Given the description of an element on the screen output the (x, y) to click on. 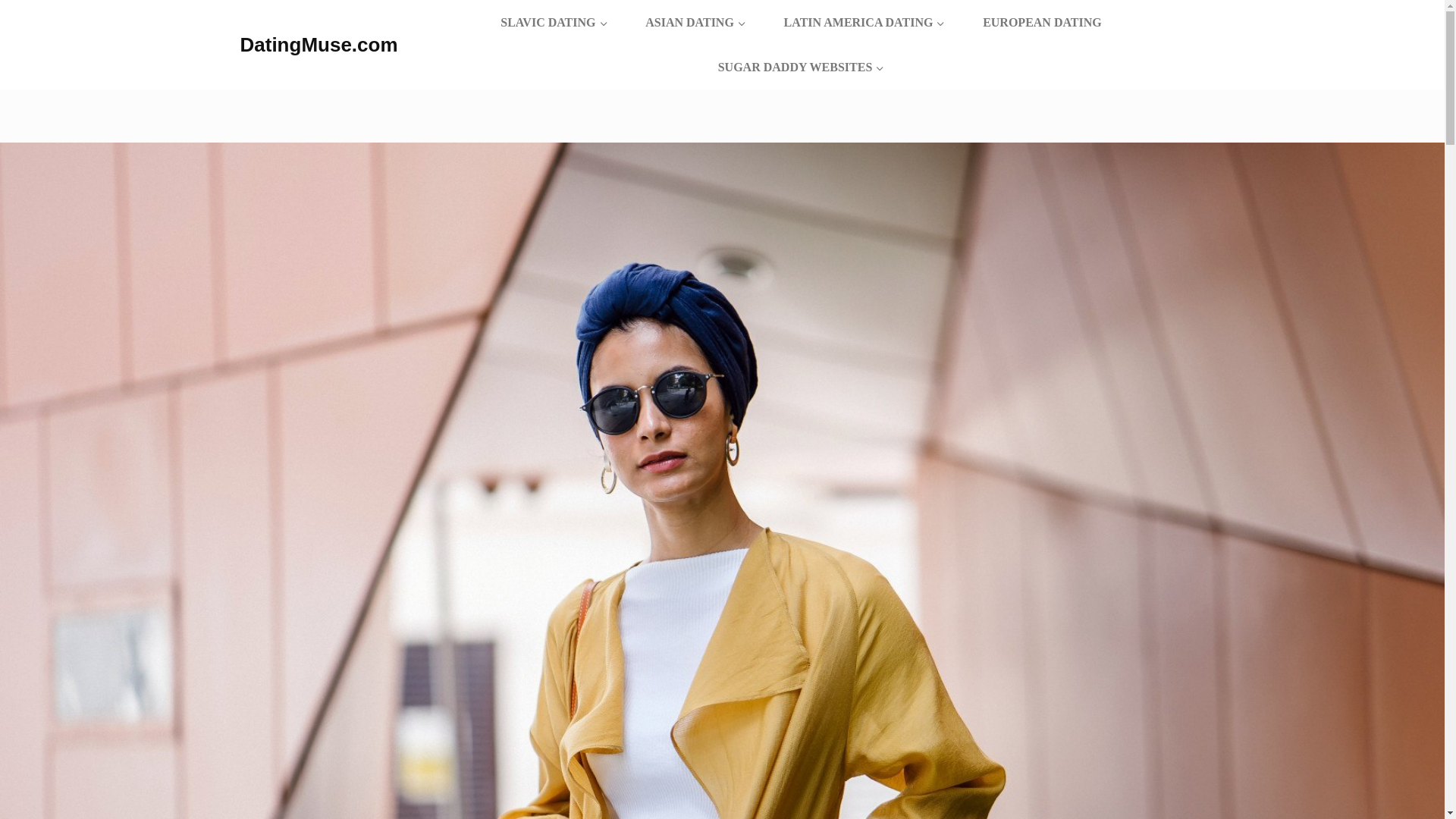
EUROPEAN DATING (1041, 22)
SLAVIC DATING (553, 22)
LATIN AMERICA DATING (864, 22)
DatingMuse.com (318, 44)
ASIAN DATING (695, 22)
SUGAR DADDY WEBSITES (800, 67)
